Given the description of an element on the screen output the (x, y) to click on. 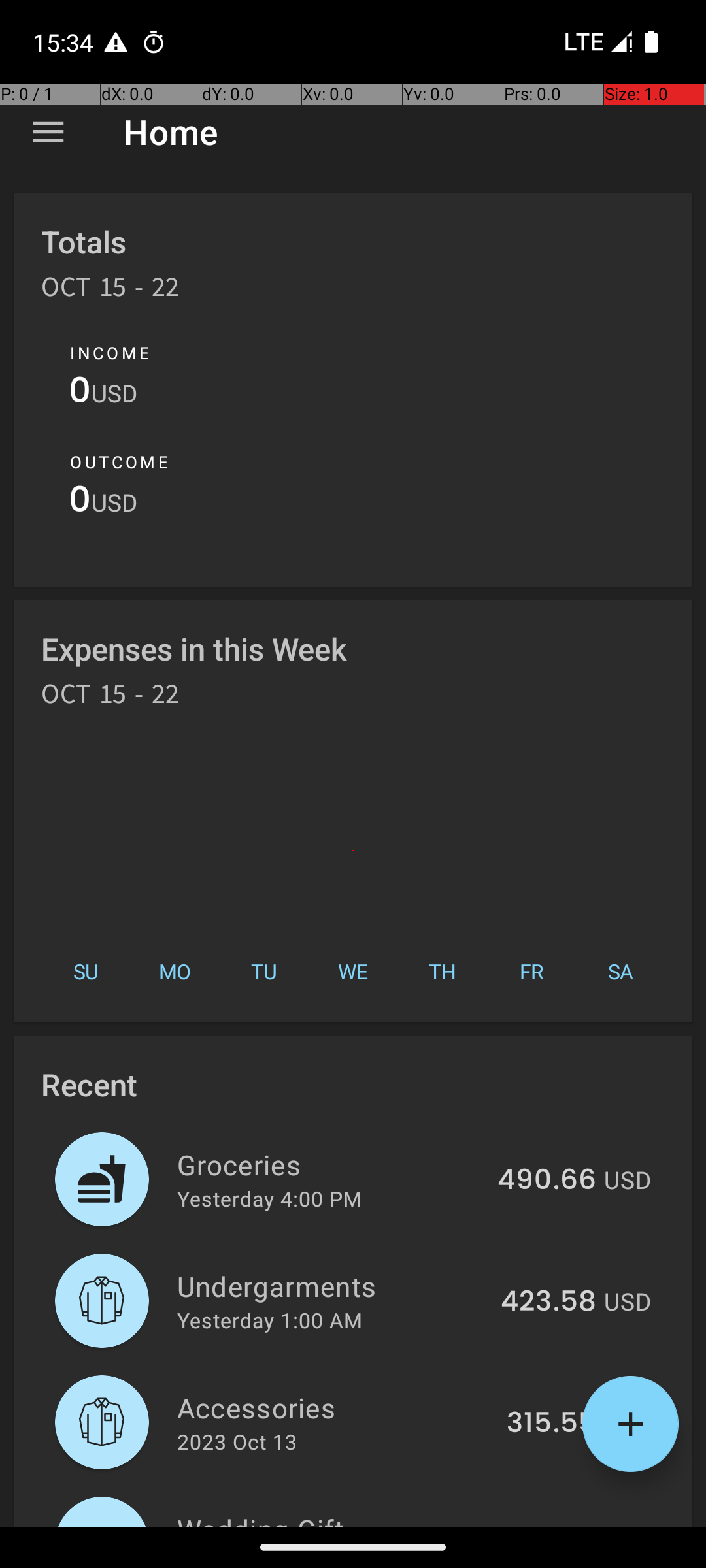
Groceries Element type: android.widget.TextView (329, 1164)
Yesterday 4:00 PM Element type: android.widget.TextView (269, 1198)
490.66 Element type: android.widget.TextView (546, 1180)
Undergarments Element type: android.widget.TextView (331, 1285)
Yesterday 1:00 AM Element type: android.widget.TextView (269, 1320)
423.58 Element type: android.widget.TextView (548, 1301)
Accessories Element type: android.widget.TextView (334, 1407)
315.55 Element type: android.widget.TextView (550, 1423)
Wedding Gift Element type: android.widget.TextView (338, 1518)
89.98 Element type: android.widget.TextView (555, 1524)
